Given the description of an element on the screen output the (x, y) to click on. 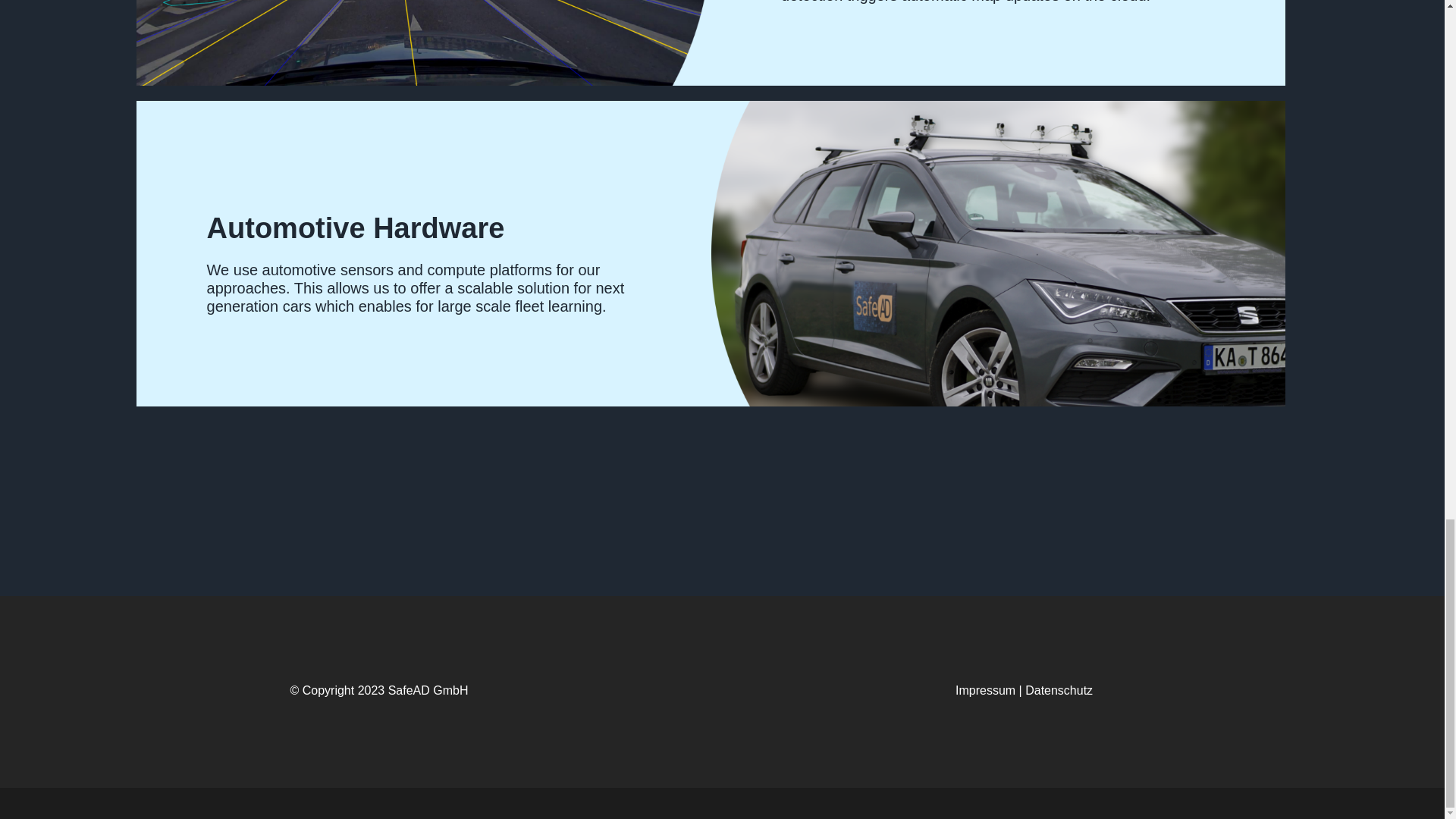
Impressum (984, 689)
Datenschutz (1059, 689)
